Given the description of an element on the screen output the (x, y) to click on. 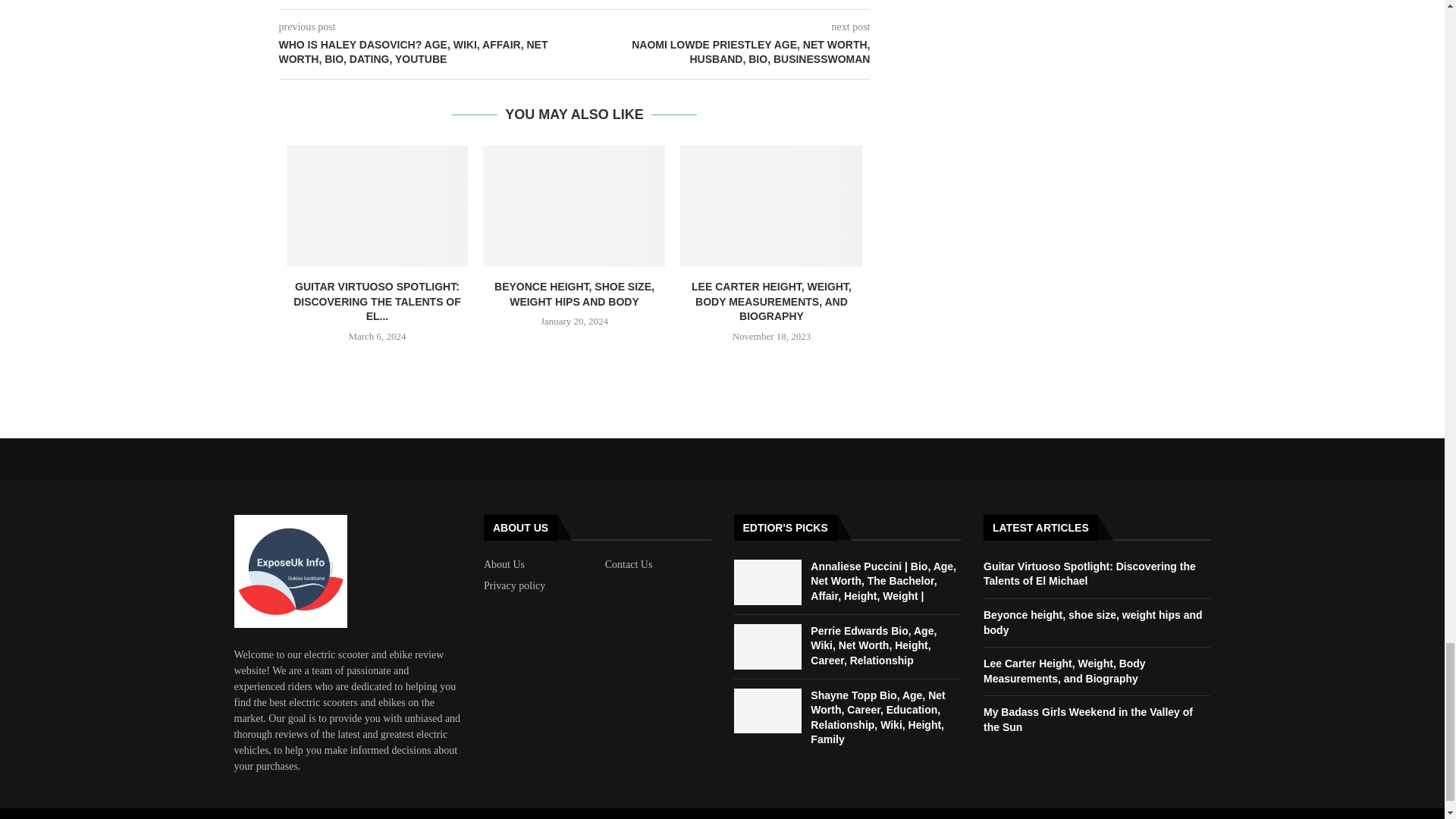
Beyonce height, shoe size, weight hips and body (574, 205)
Lee Carter Height, Weight, Body Measurements, and Biography (770, 205)
